Given the description of an element on the screen output the (x, y) to click on. 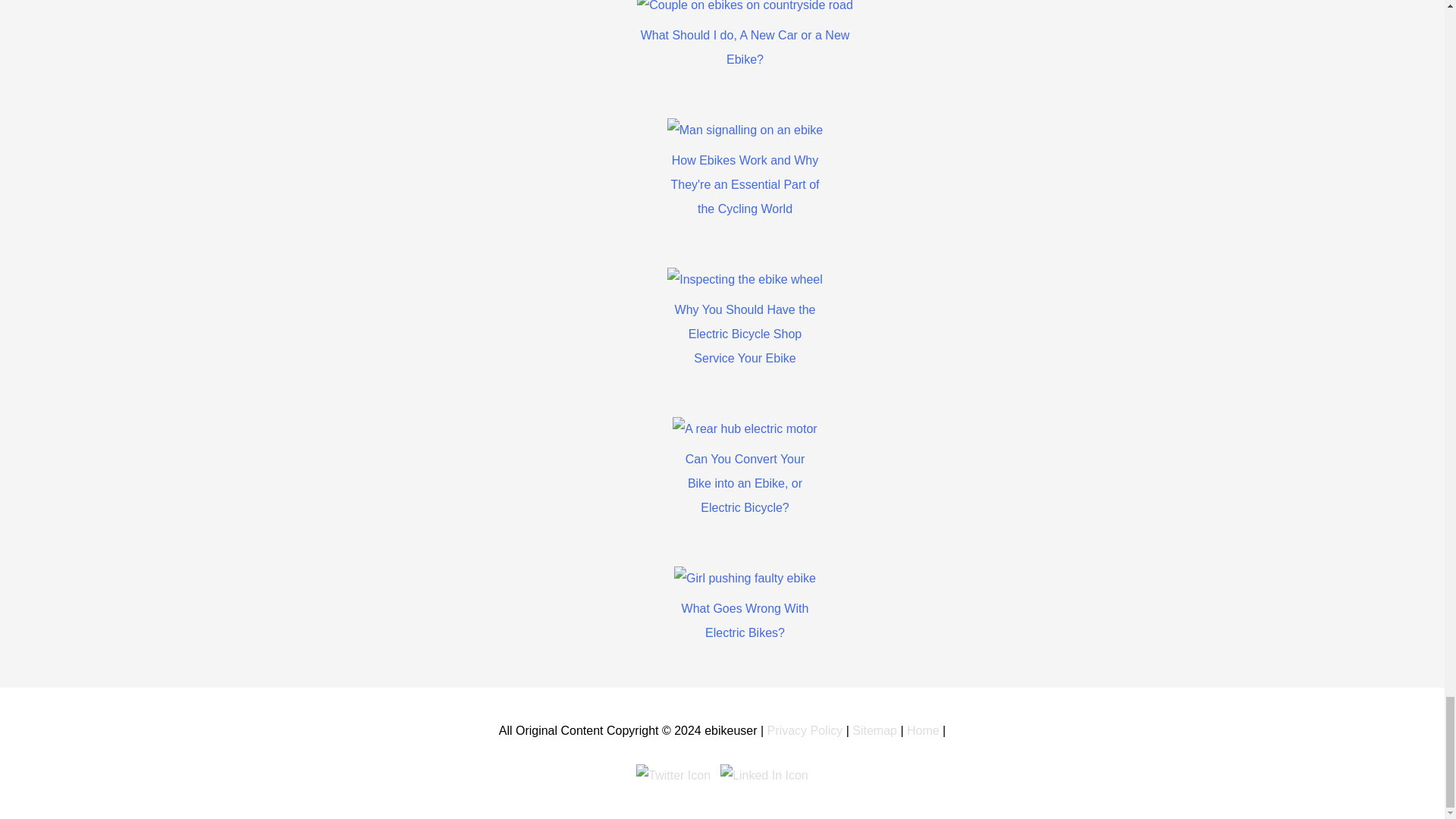
Sitemap (873, 730)
Home (923, 730)
What Should I do, A New Car or a New Ebike? (745, 47)
Privacy Policy (805, 730)
What Goes Wrong With Electric Bikes? (745, 620)
